Given the description of an element on the screen output the (x, y) to click on. 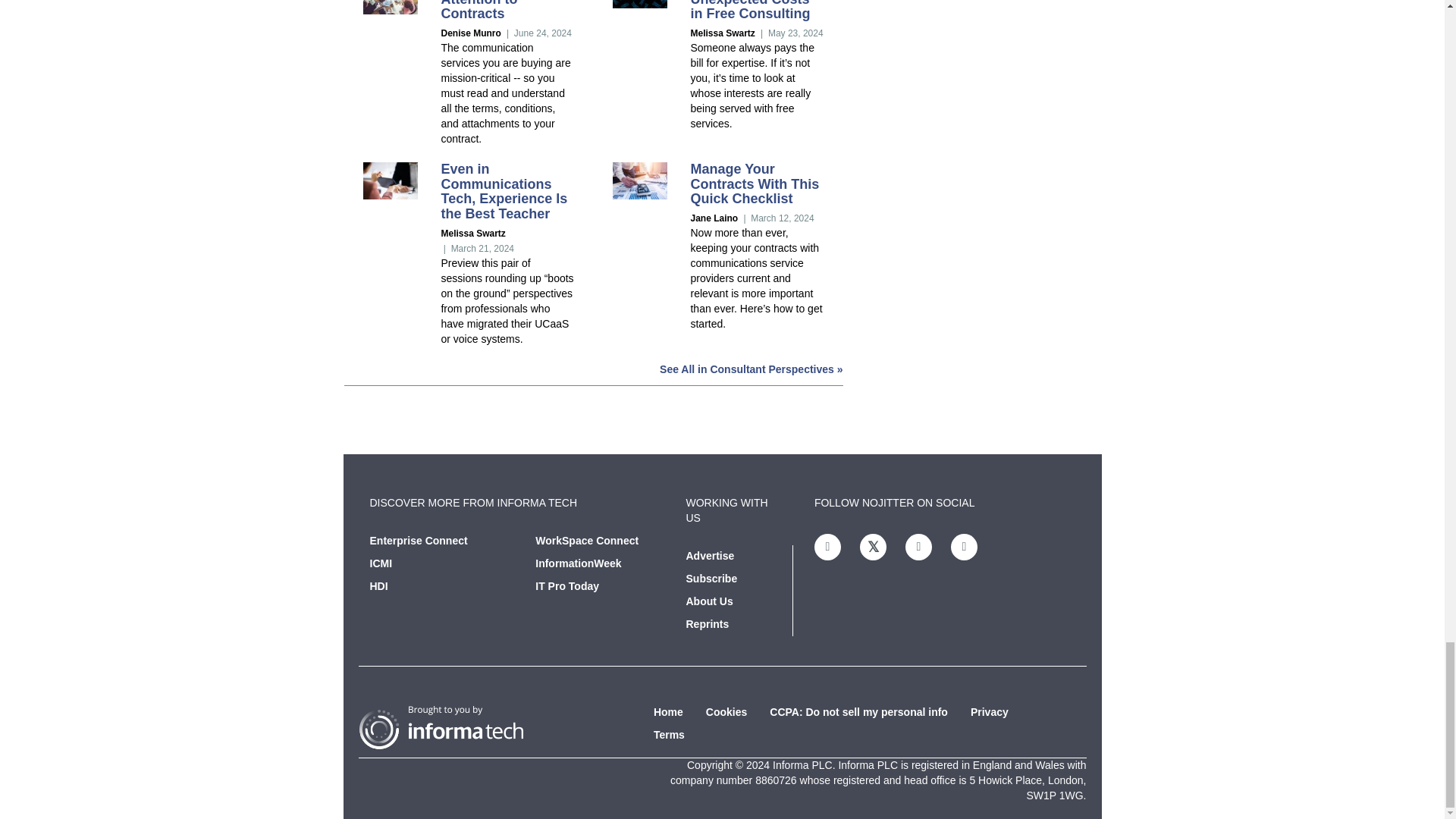
ICMI (381, 563)
WorkSpace Connect (587, 540)
Enterprise Connect (418, 540)
InformationWeek (578, 563)
HDI (378, 585)
